Given the description of an element on the screen output the (x, y) to click on. 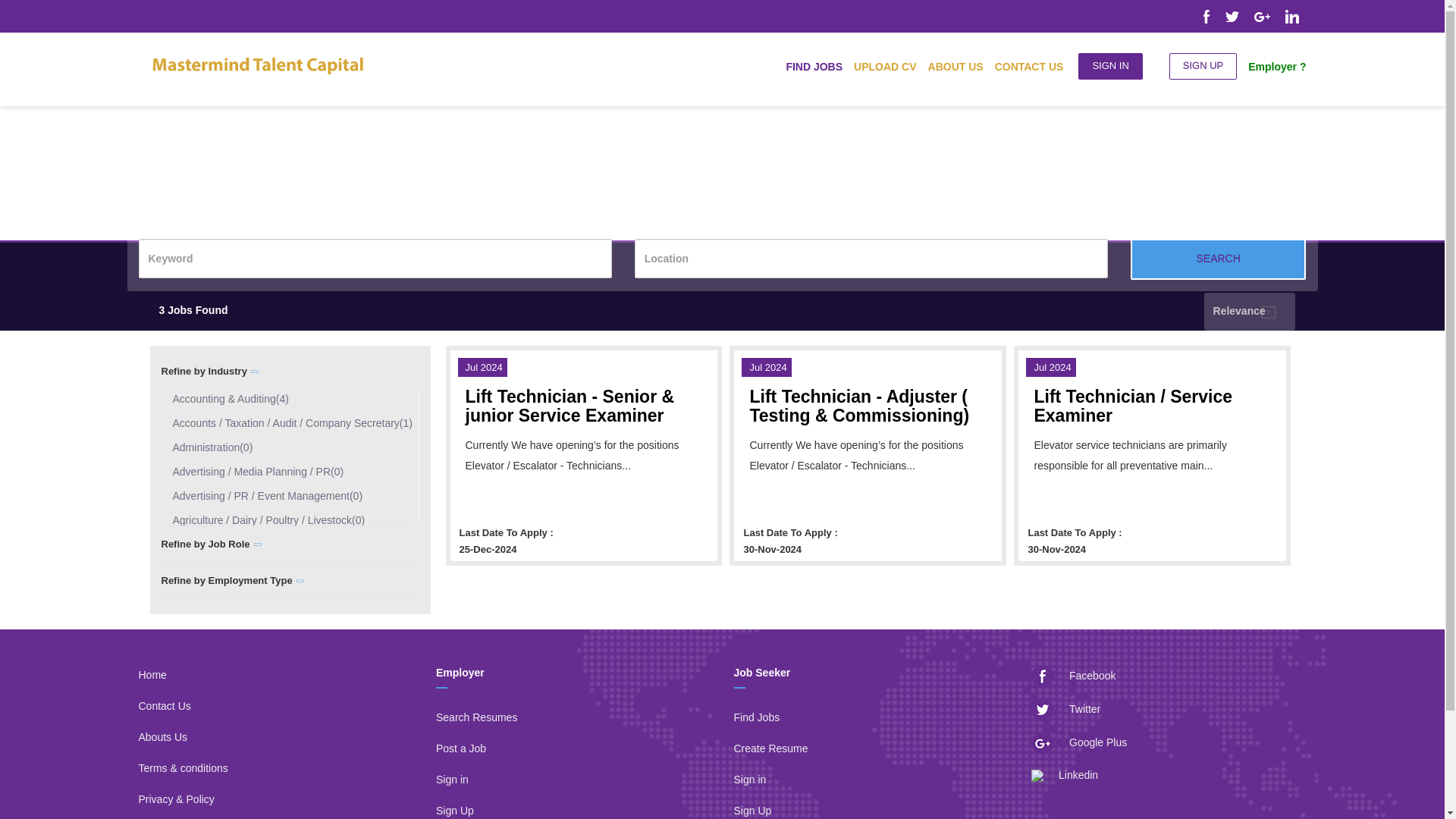
UPLOAD CV (879, 66)
ABOUT US (950, 66)
Refine by Industry (210, 375)
Search (1218, 259)
Search (1218, 259)
Employer ? (1271, 66)
SIGN IN (1109, 66)
SIGN UP (1202, 66)
CONTACT US (1024, 66)
